Given the description of an element on the screen output the (x, y) to click on. 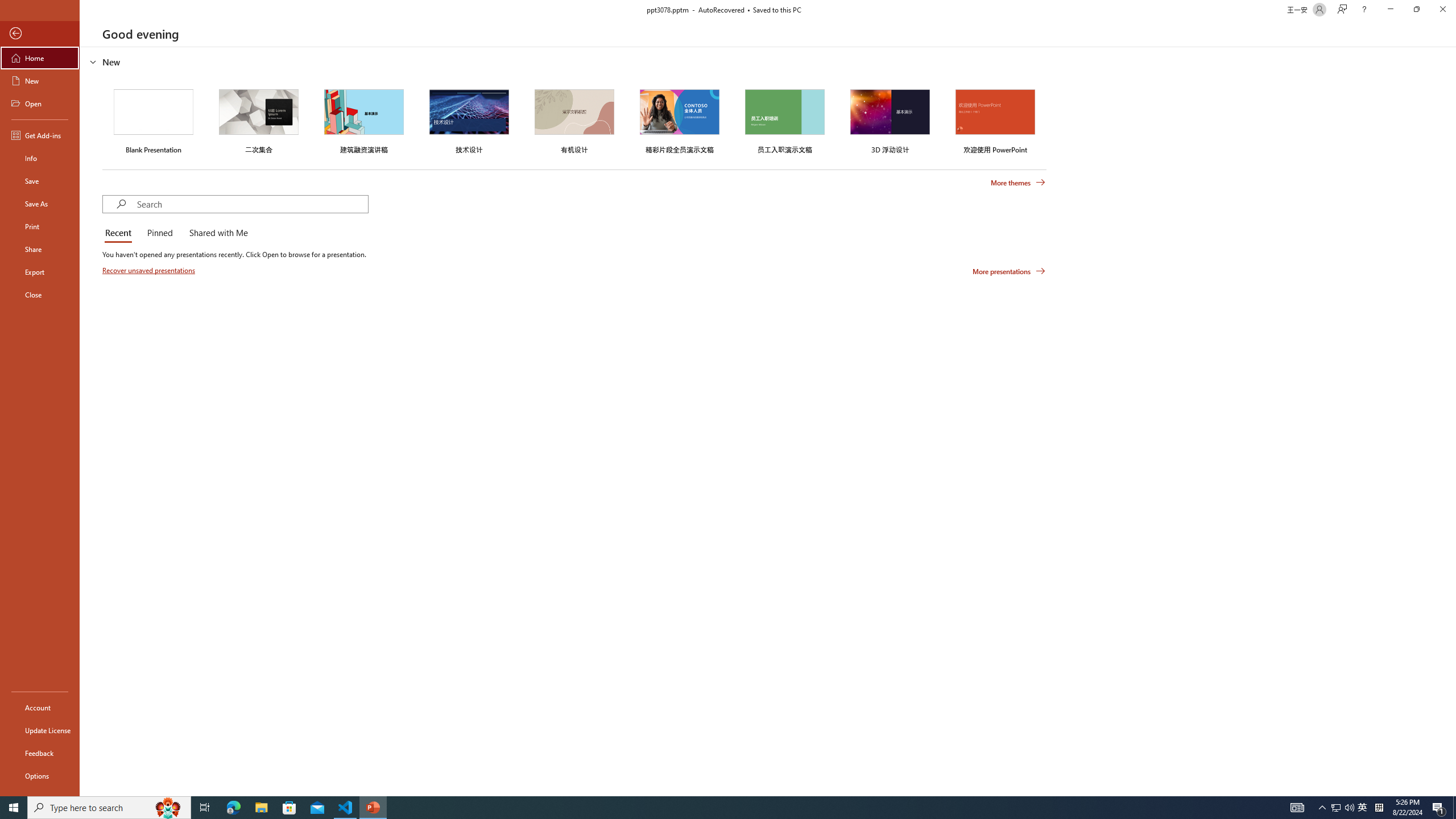
Application Menu (76, 183)
Forwarded Ports: 36301, 47065, 38781, 45817, 50331 (175, 766)
Explorer actions (221, 183)
Explorer (Ctrl+Shift+E) (76, 221)
Run and Debug (Ctrl+Shift+D) (76, 353)
Microsoft security help and learning (23, 348)
icon (976, 112)
Toggle Primary Side Bar (Ctrl+B) (963, 150)
